Given the description of an element on the screen output the (x, y) to click on. 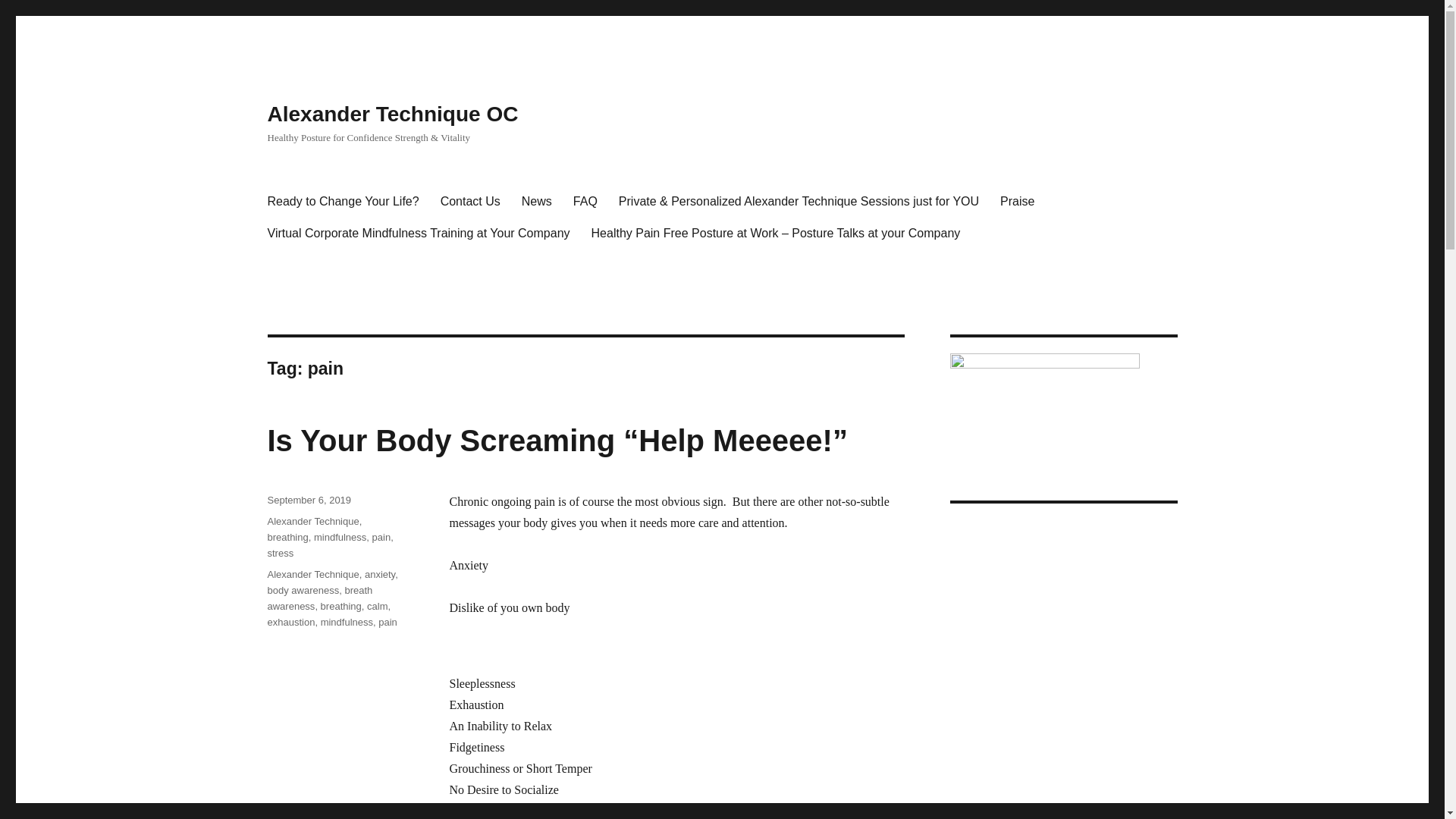
breathing (286, 536)
pain (387, 622)
calm (376, 605)
FAQ (585, 201)
September 6, 2019 (308, 500)
Alexander Technique (312, 521)
Praise (1017, 201)
mindfulness (346, 622)
exhaustion (290, 622)
mindfulness (340, 536)
Alexander Technique (312, 573)
breathing (340, 605)
pain (381, 536)
Alexander Technique OC (392, 114)
Virtual Corporate Mindfulness Training at Your Company (417, 233)
